Given the description of an element on the screen output the (x, y) to click on. 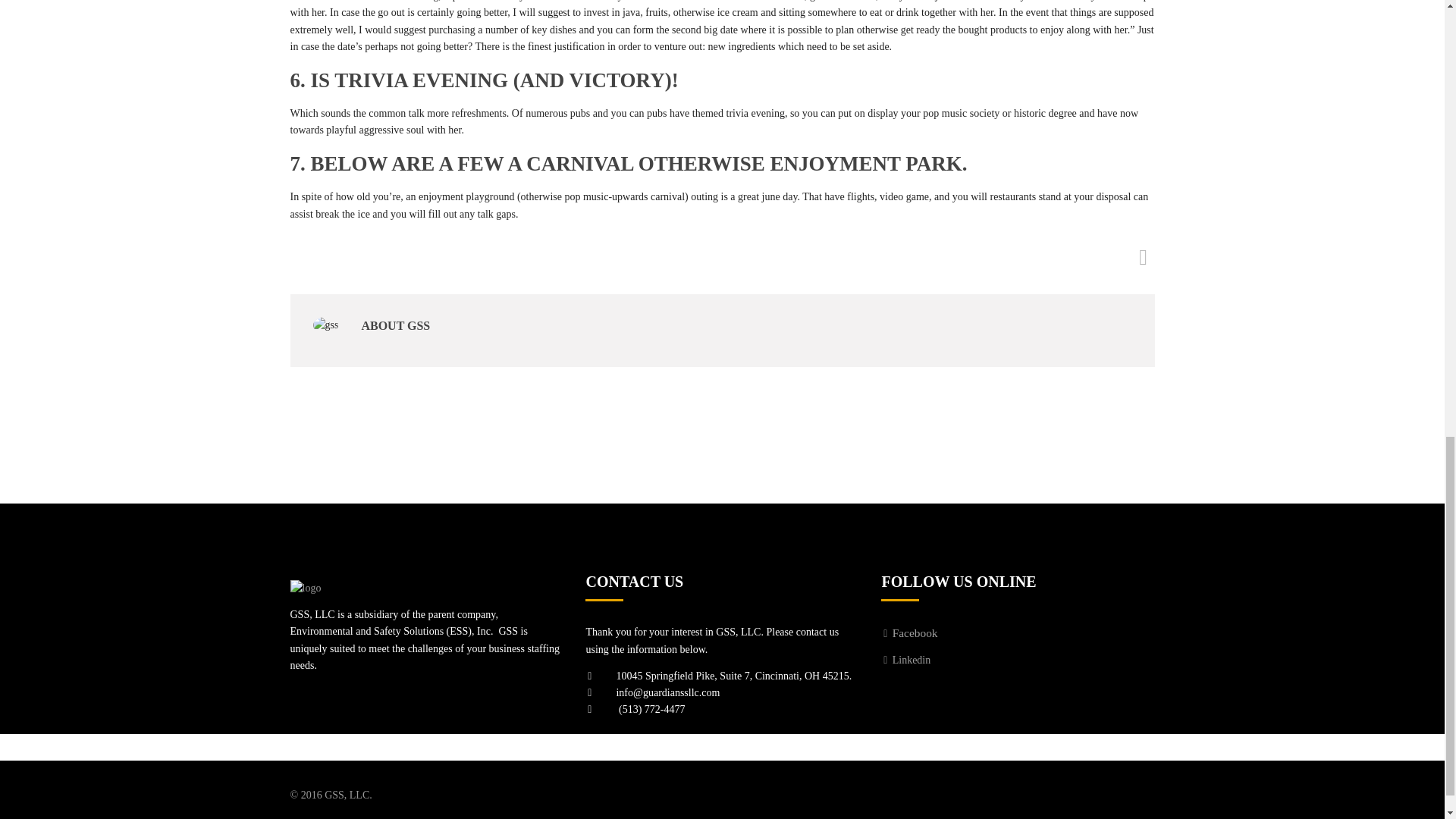
 Linkedin (905, 659)
Facebook (908, 633)
